Given the description of an element on the screen output the (x, y) to click on. 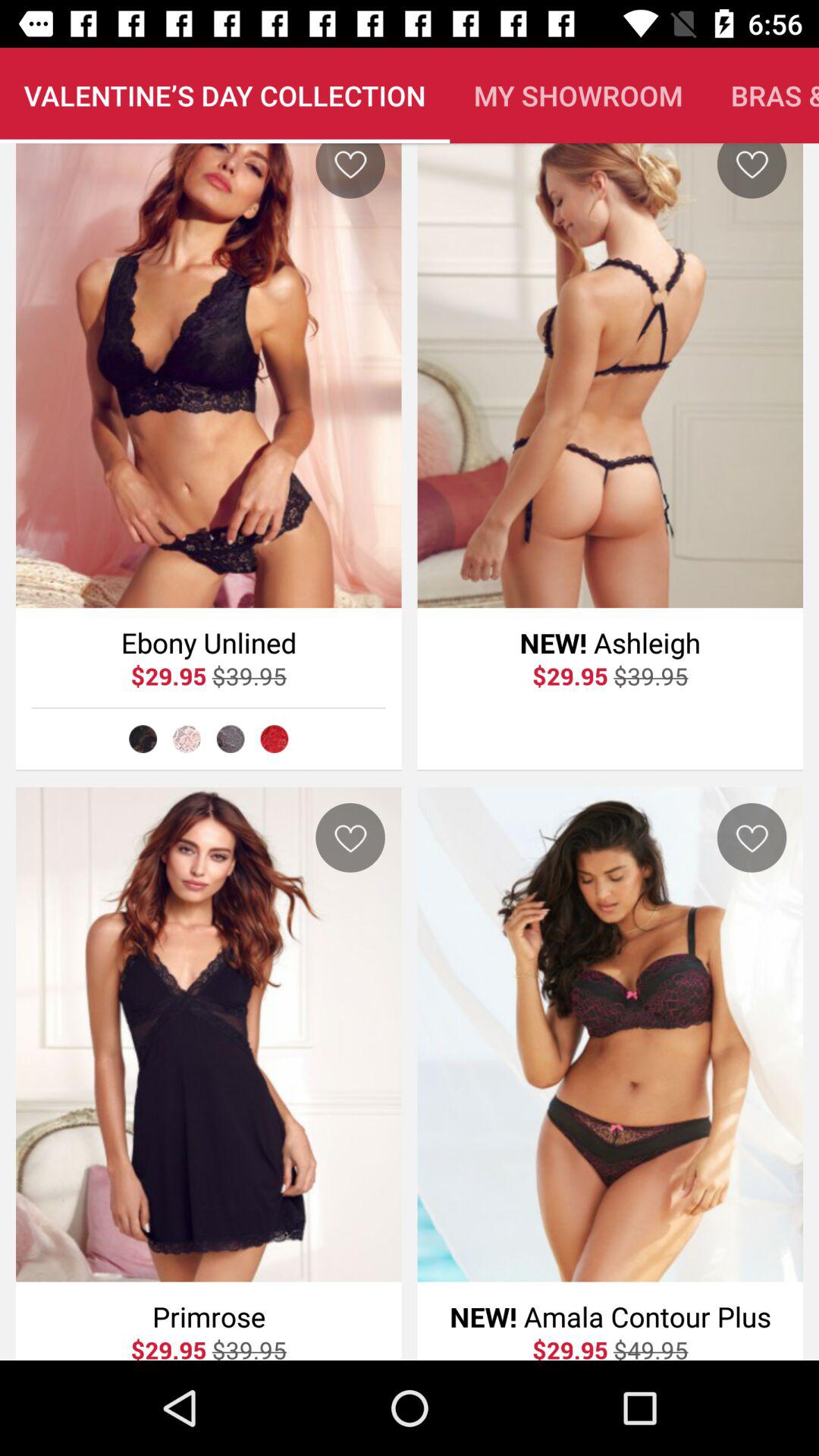
select the red option (274, 738)
